Given the description of an element on the screen output the (x, y) to click on. 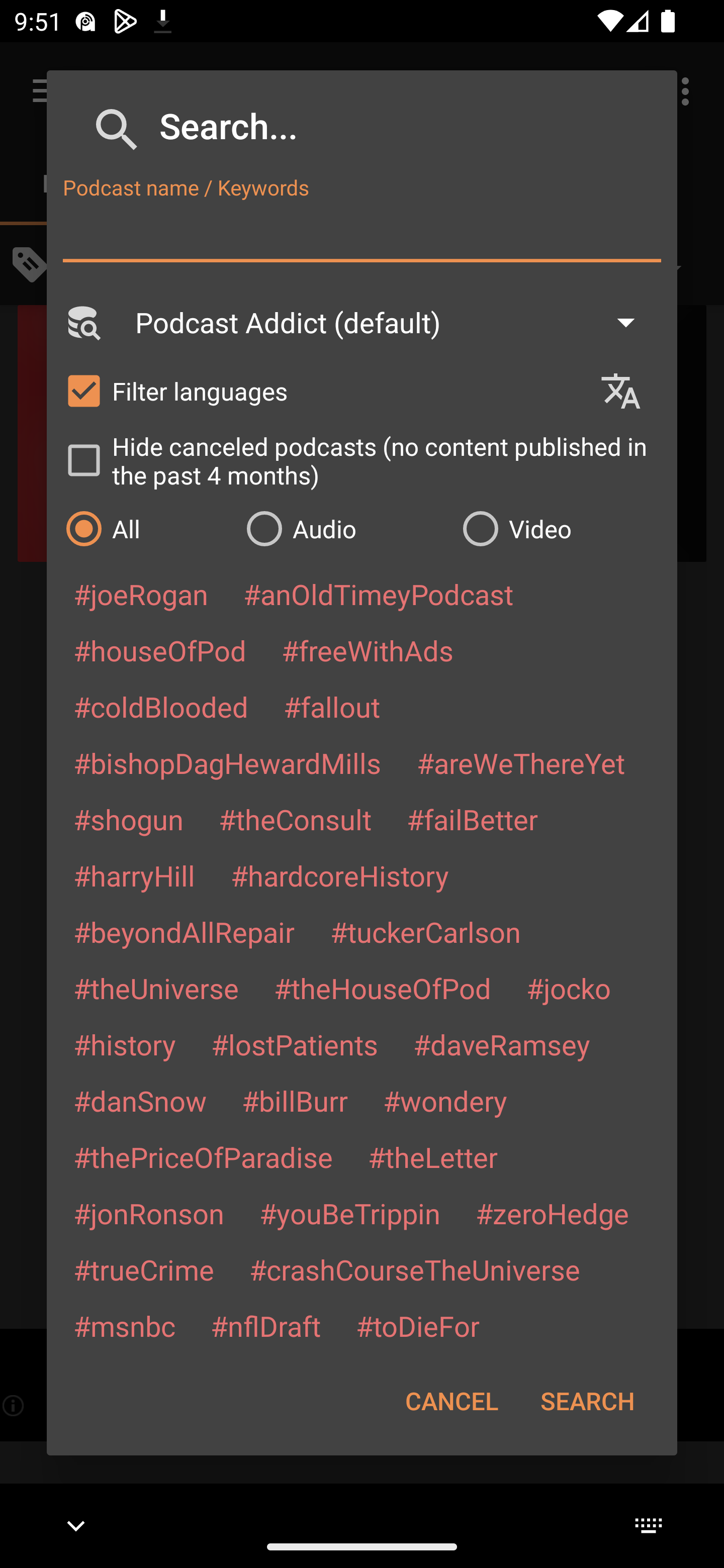
Podcast name / Keywords (361, 234)
Search Engine (82, 322)
Podcast Addict (default) (394, 322)
Languages selection (629, 390)
Filter languages (322, 390)
All (145, 528)
Audio (344, 528)
Video (560, 528)
#joeRogan (140, 594)
#anOldTimeyPodcast (378, 594)
#houseOfPod (159, 650)
#freeWithAds (367, 650)
#coldBlooded (160, 705)
#fallout (331, 705)
#bishopDagHewardMills (227, 762)
#areWeThereYet (521, 762)
#shogun (128, 818)
#theConsult (294, 818)
#failBetter (471, 818)
#harryHill (134, 875)
#hardcoreHistory (339, 875)
#beyondAllRepair (184, 931)
#tuckerCarlson (425, 931)
#theUniverse (155, 987)
#theHouseOfPod (381, 987)
#jocko (568, 987)
#history (124, 1044)
#lostPatients (294, 1044)
#daveRamsey (501, 1044)
#danSnow (139, 1100)
#billBurr (294, 1100)
#wondery (444, 1100)
#thePriceOfParadise (203, 1157)
#theLetter (432, 1157)
#jonRonson (148, 1213)
#youBeTrippin (349, 1213)
#zeroHedge (552, 1213)
#trueCrime (143, 1268)
#crashCourseTheUniverse (414, 1268)
#msnbc (124, 1325)
#nflDraft (265, 1325)
#toDieFor (417, 1325)
CANCEL (451, 1400)
SEARCH (587, 1400)
